Given the description of an element on the screen output the (x, y) to click on. 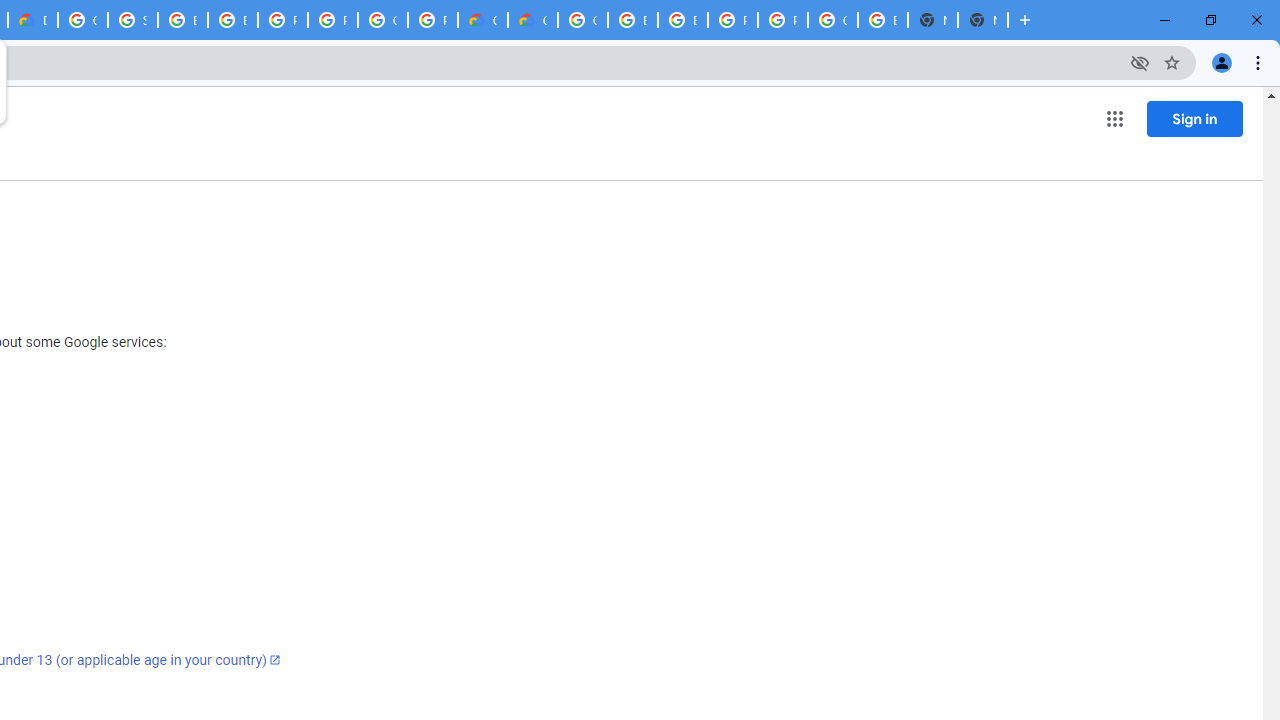
Google Cloud Platform (82, 20)
Google Cloud Platform (582, 20)
Browse Chrome as a guest - Computer - Google Chrome Help (632, 20)
Third-party cookies blocked (1139, 62)
Google Cloud Estimate Summary (533, 20)
Google Cloud Platform (832, 20)
